Given the description of an element on the screen output the (x, y) to click on. 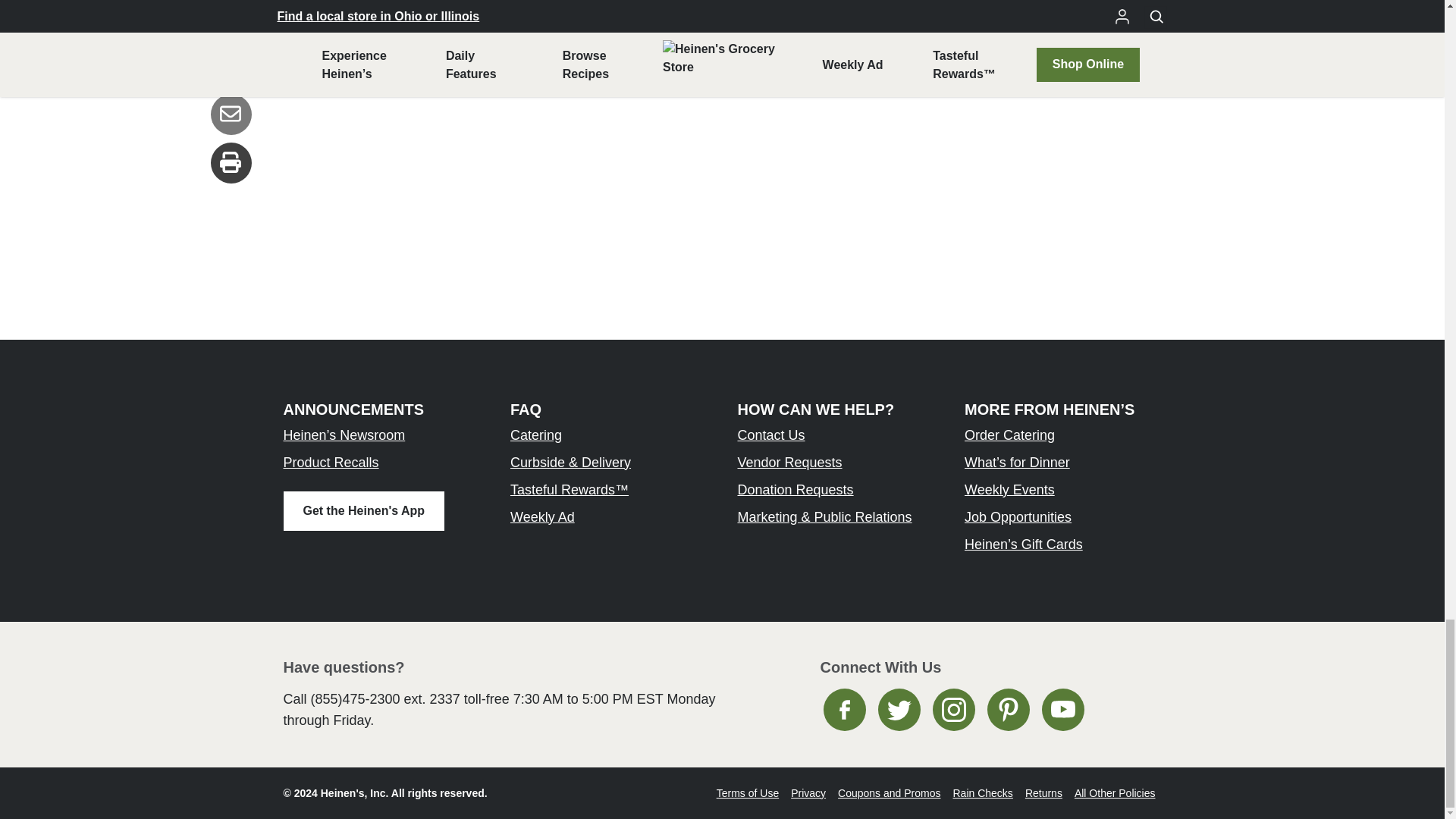
Connect with Heinen's on YouTube (1063, 709)
Connect with Heinen's on Twitter (898, 709)
Connect with Heinen's on Facebook (845, 709)
Connect with Heinen's on Pinterest (1008, 709)
Connect with Heinen's on Instagram (954, 709)
